Given the description of an element on the screen output the (x, y) to click on. 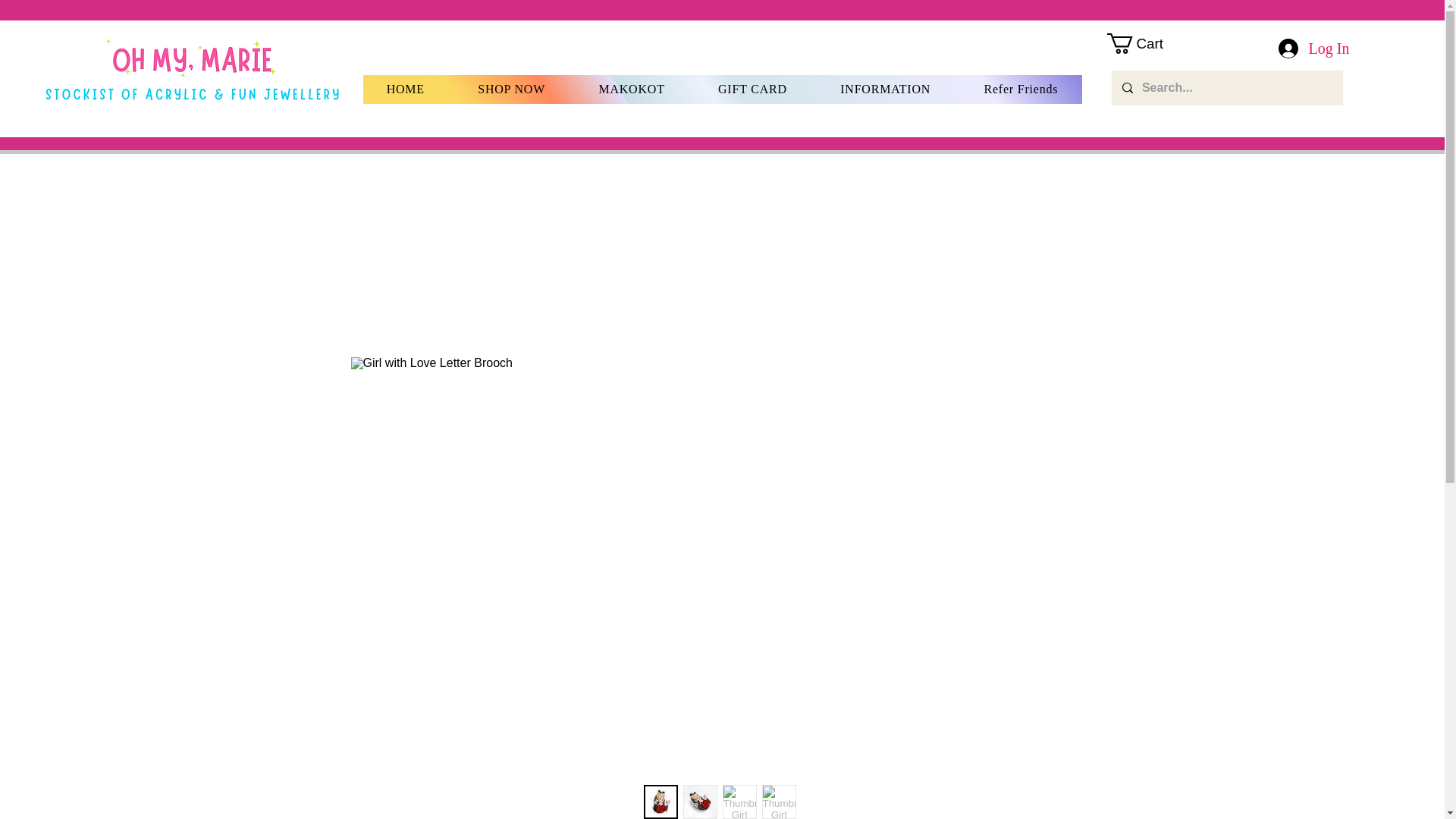
INFORMATION (884, 89)
Cart (1146, 43)
Cart (1146, 43)
SHOP NOW (511, 89)
Cart (1219, 119)
GIFT CARD (752, 89)
Refer Friends (1020, 89)
Log In (1313, 48)
MAKOKOT (631, 89)
HOME (405, 89)
Cart (1219, 119)
